Given the description of an element on the screen output the (x, y) to click on. 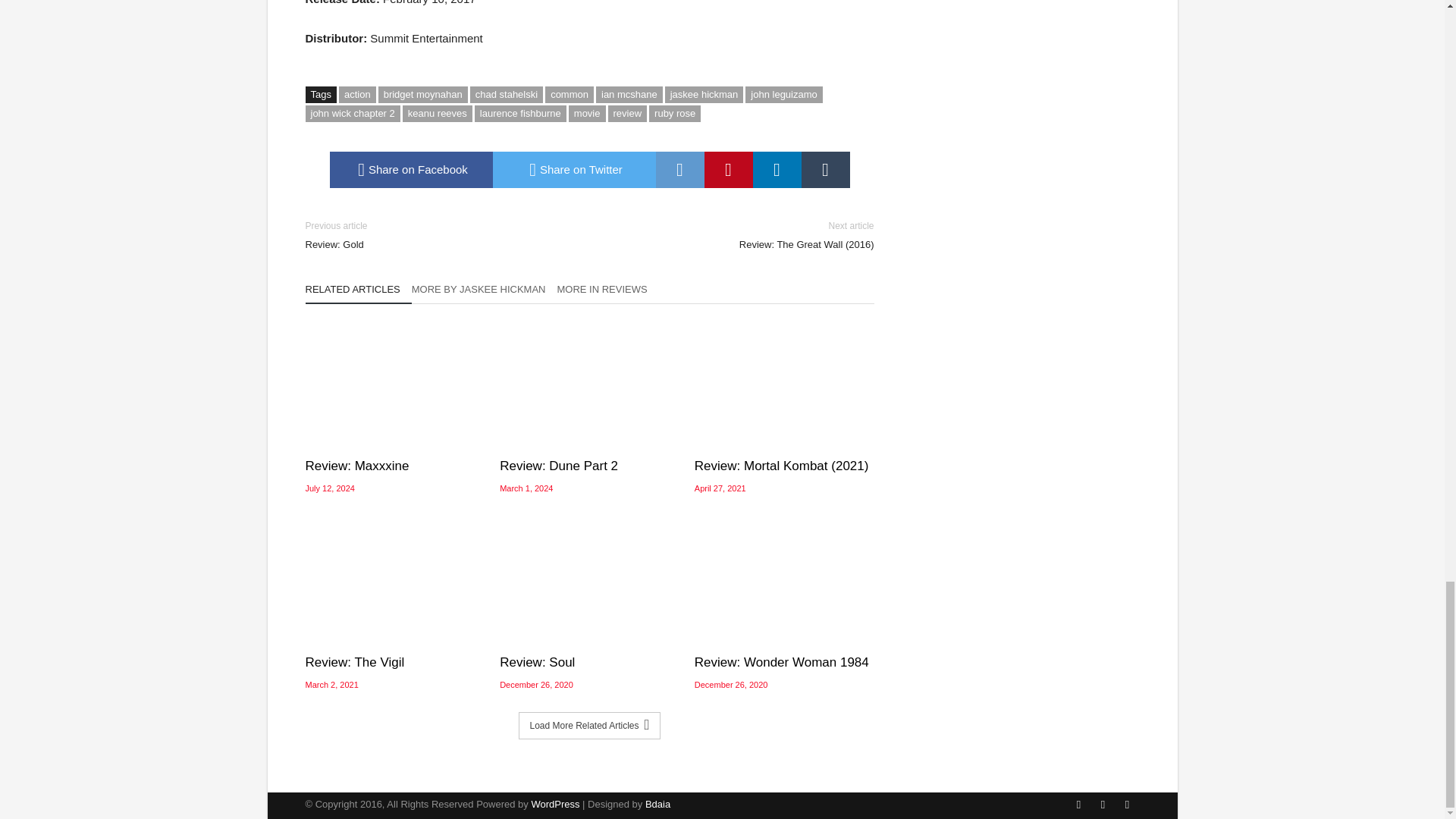
common (569, 94)
chad stahelski (506, 94)
action (357, 94)
bridget moynahan (422, 94)
